Given the description of an element on the screen output the (x, y) to click on. 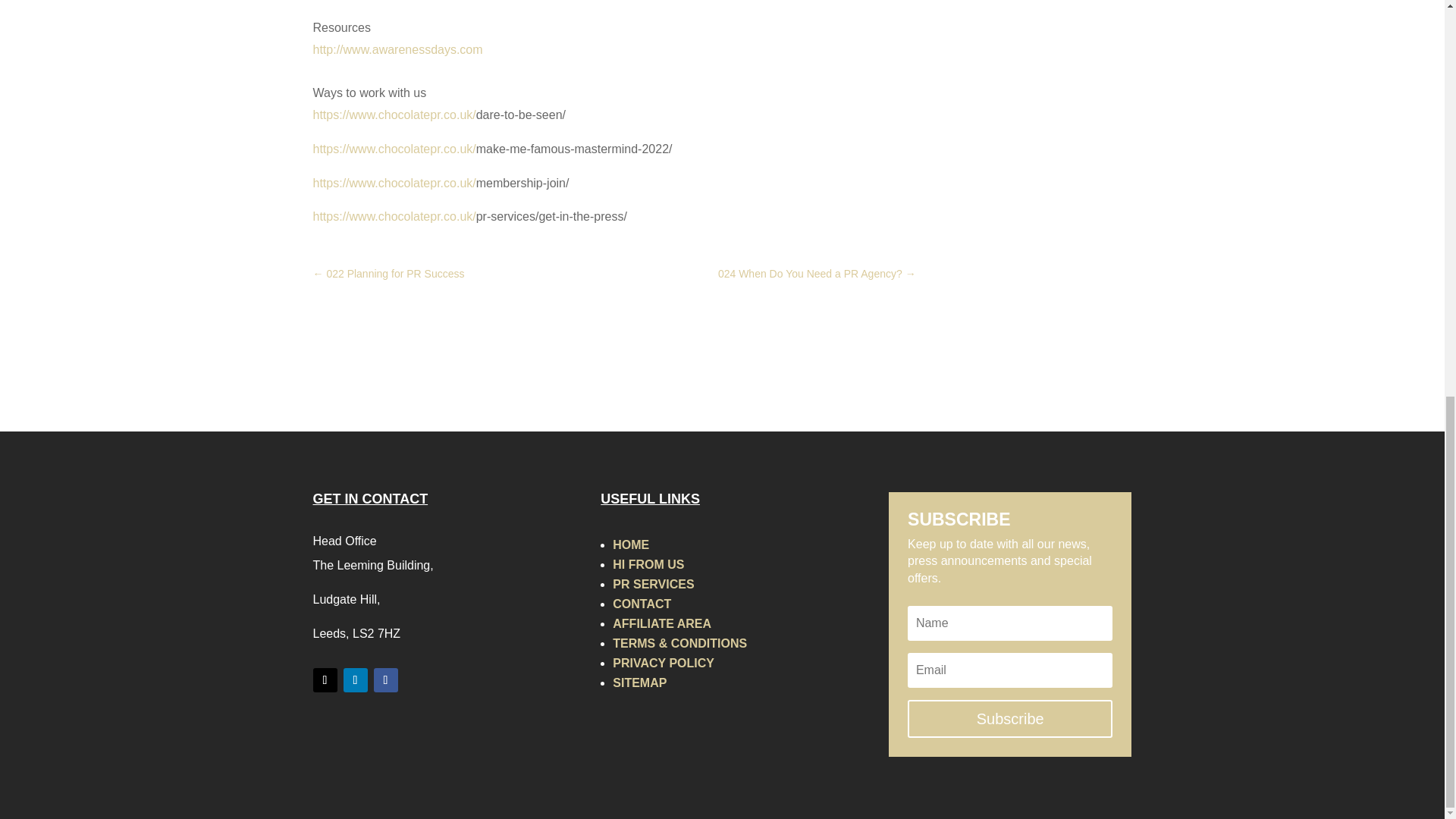
Follow on Facebook (384, 680)
Follow on Twitter (324, 680)
Follow on LinkedIn (354, 680)
